Given the description of an element on the screen output the (x, y) to click on. 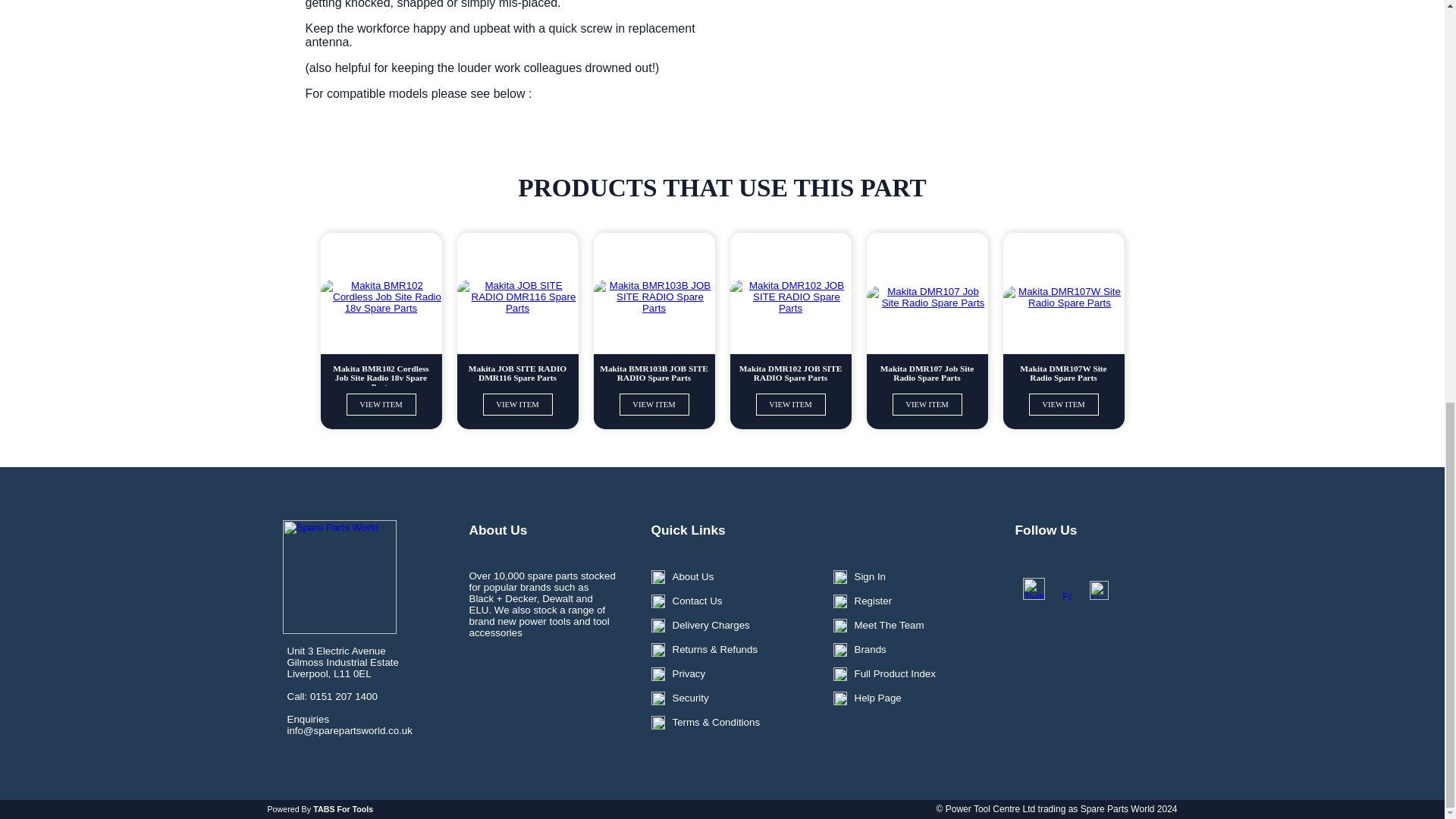
Makita BMR102 Cordless Job Site Radio 18v Spare Parts (380, 372)
Makita DMR102 JOB SITE RADIO Spare Parts (789, 372)
Makita BMR103B JOB SITE RADIO Spare Parts (653, 372)
Makita JOB SITE RADIO DMR116 Spare Parts (517, 372)
Makita DMR107 Job Site Radio Spare Parts (926, 372)
